Given the description of an element on the screen output the (x, y) to click on. 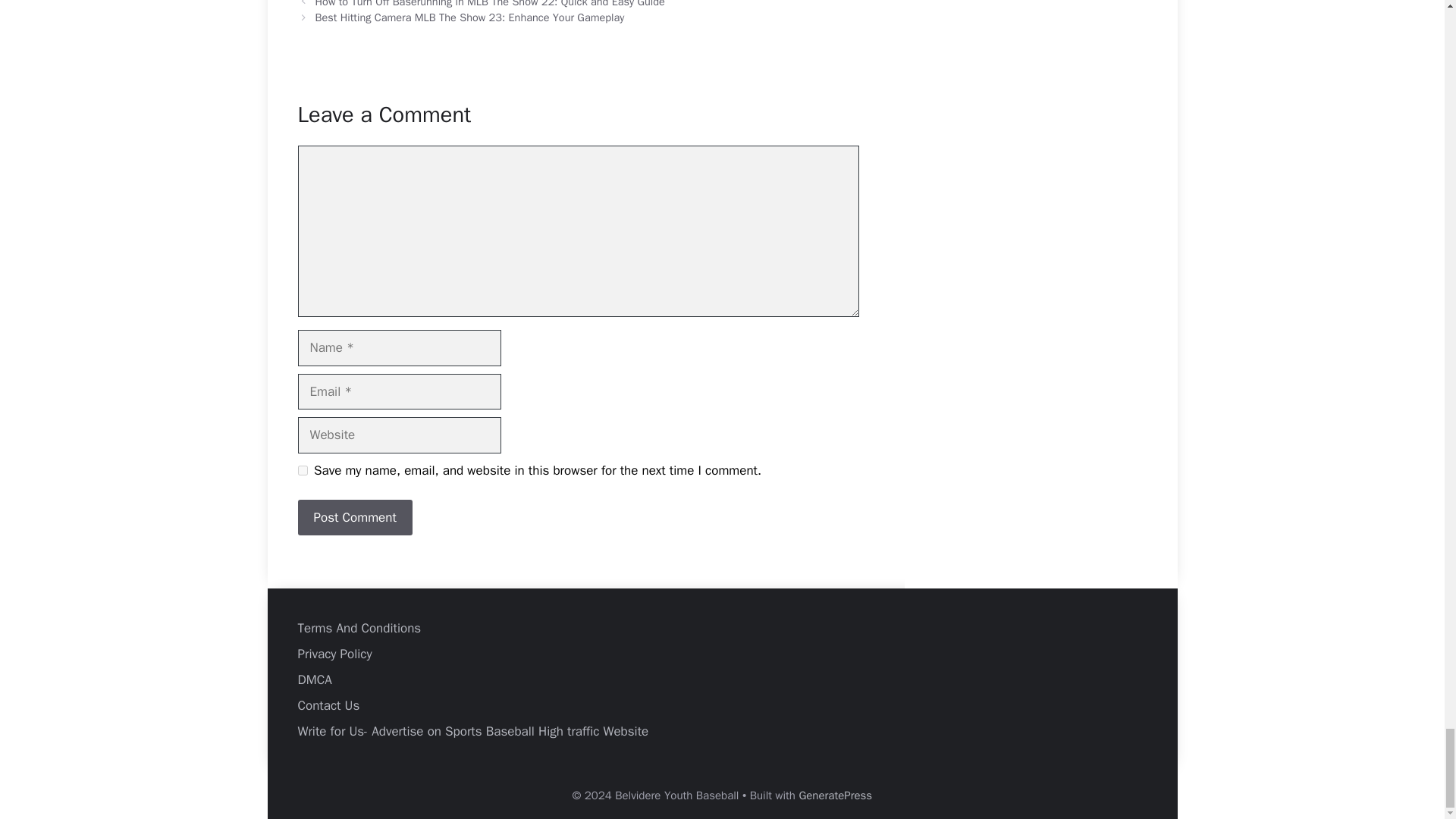
Post Comment (354, 517)
Best Hitting Camera MLB The Show 23: Enhance Your Gameplay (469, 17)
Post Comment (354, 517)
yes (302, 470)
